Given the description of an element on the screen output the (x, y) to click on. 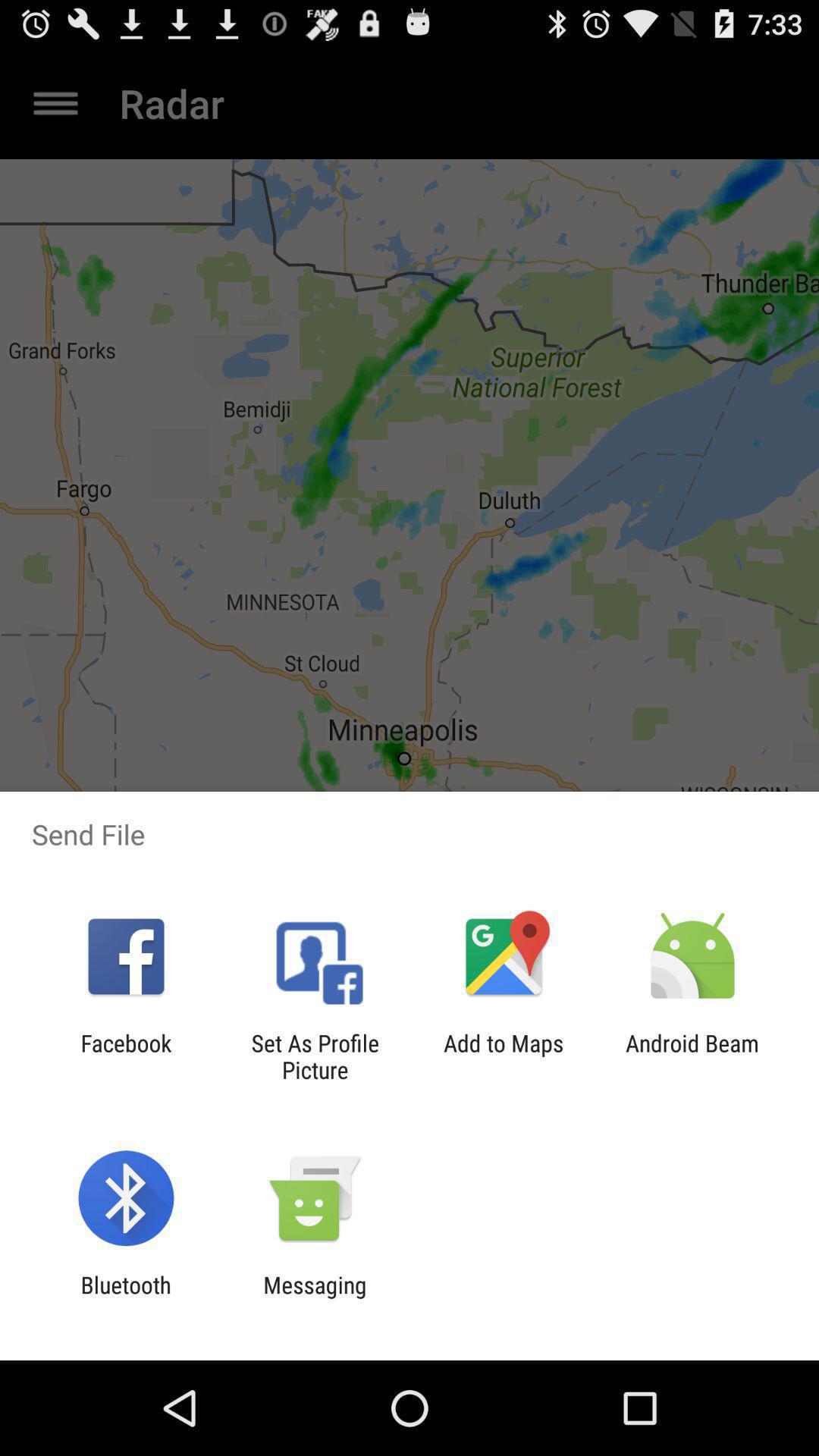
jump to messaging (314, 1298)
